Given the description of an element on the screen output the (x, y) to click on. 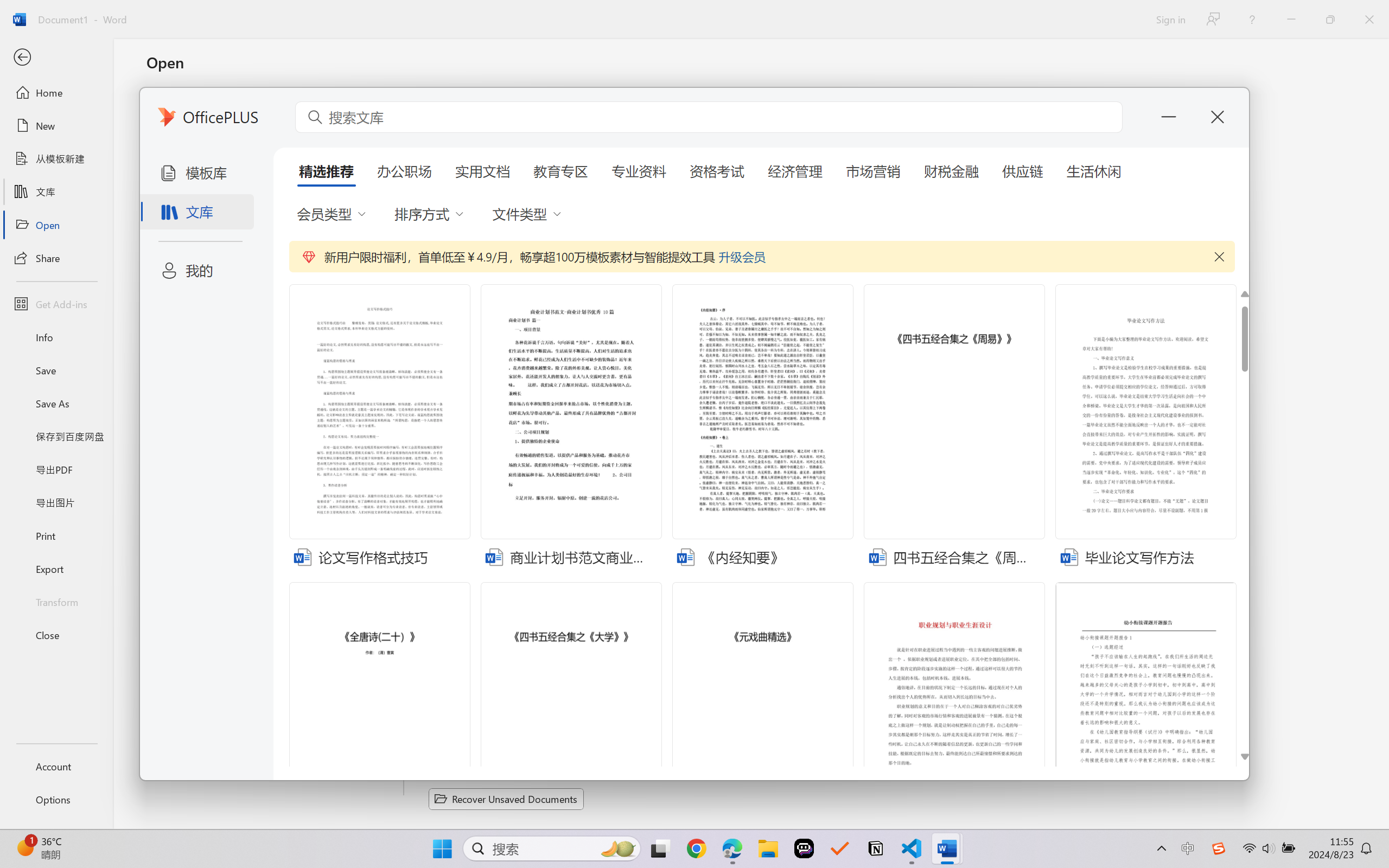
Get Add-ins (56, 303)
